Given the description of an element on the screen output the (x, y) to click on. 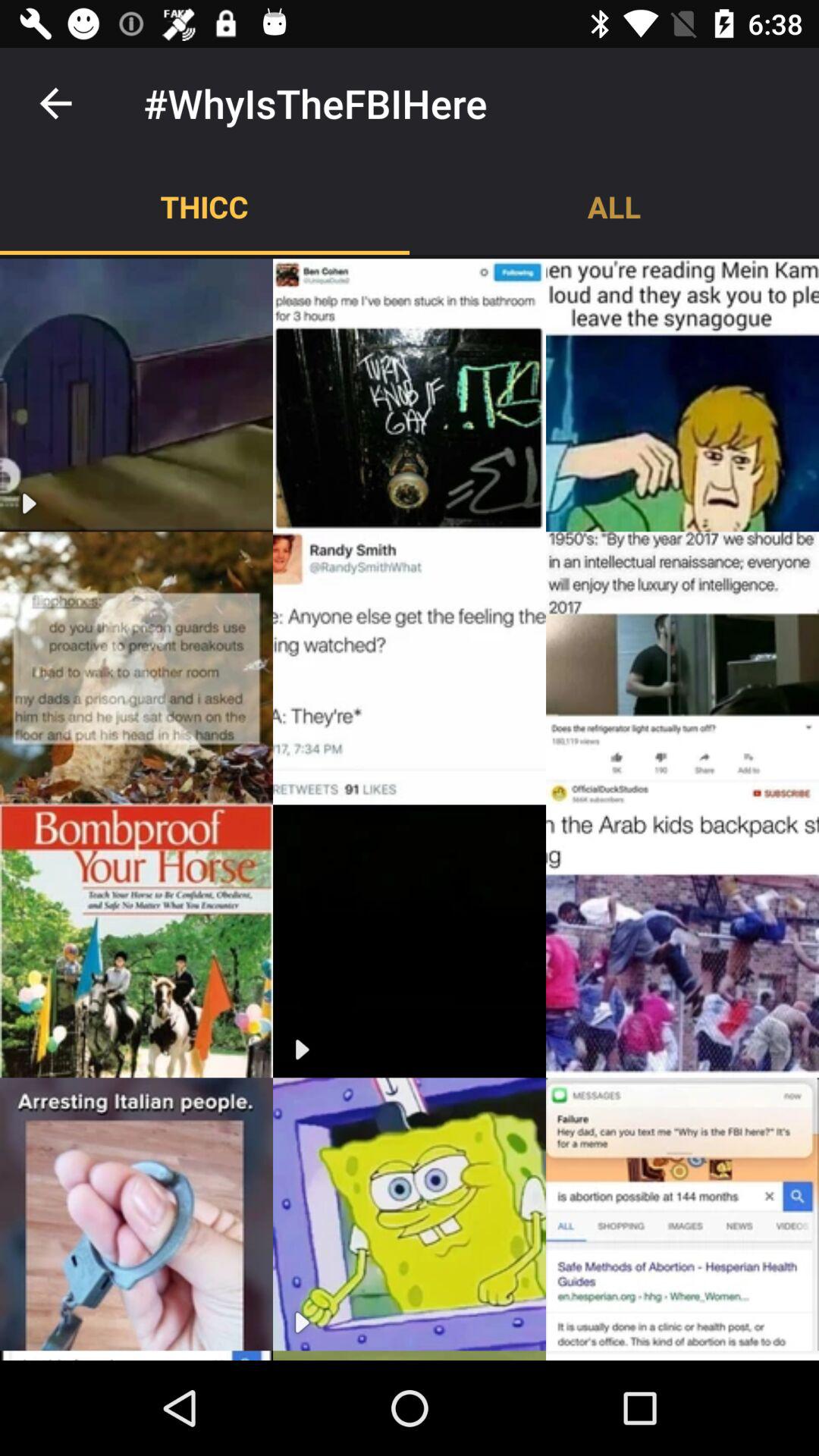
turn off the icon next to the #whyisthefbihere icon (55, 103)
